Given the description of an element on the screen output the (x, y) to click on. 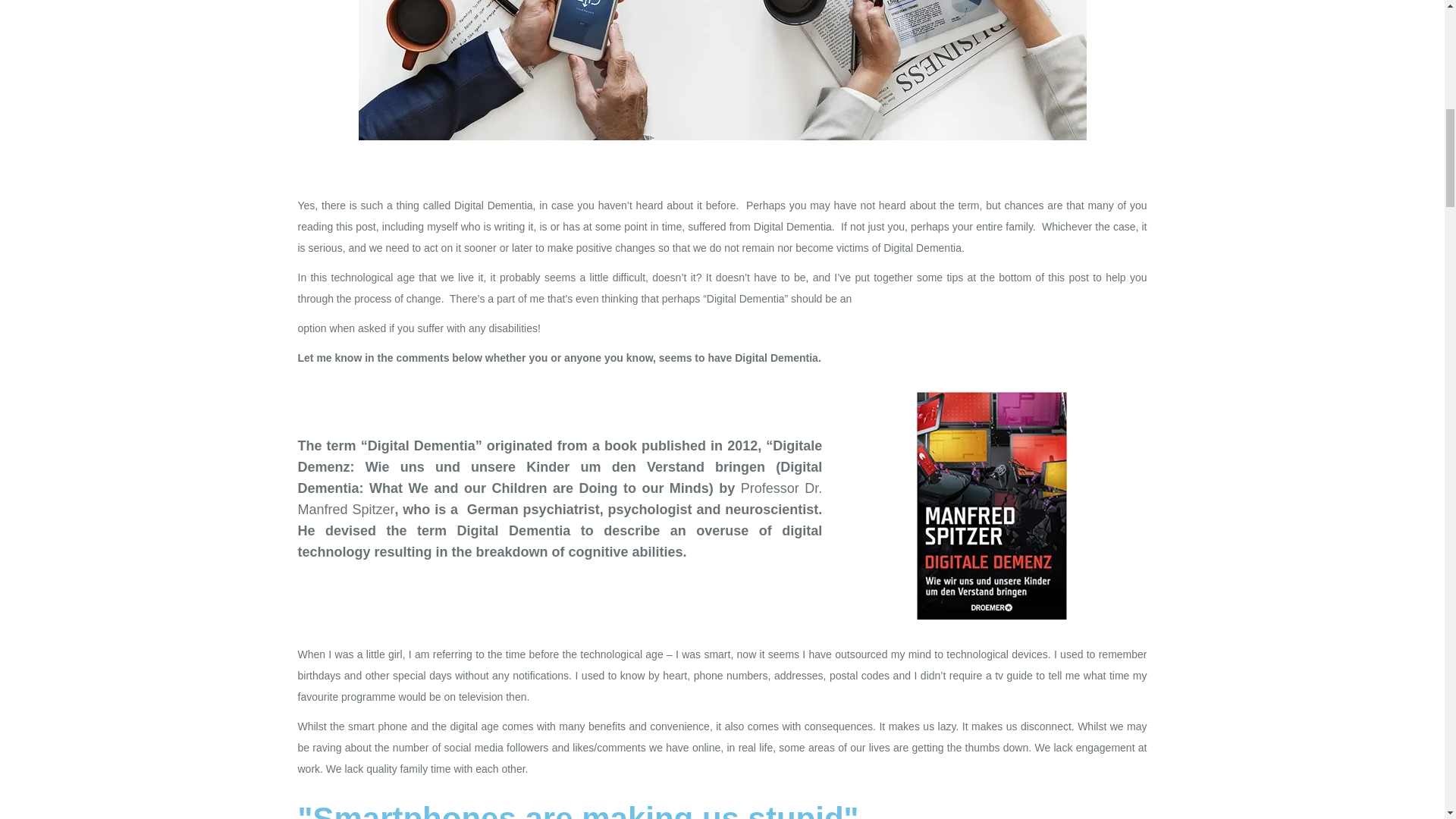
Professor Dr. Manfred Spitzer (559, 498)
